Given the description of an element on the screen output the (x, y) to click on. 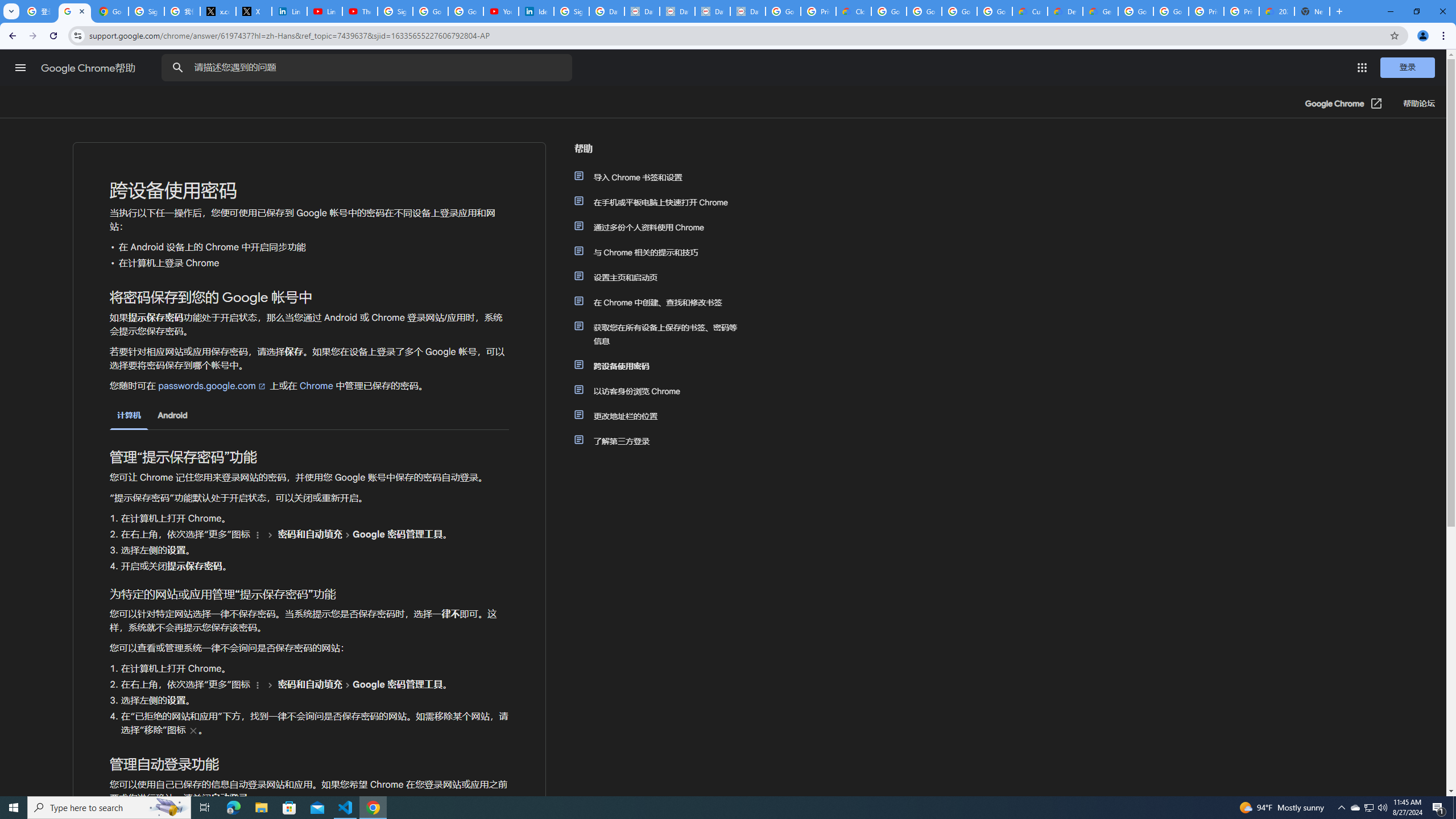
Google Cloud Platform (1170, 11)
LinkedIn Privacy Policy (288, 11)
